Given the description of an element on the screen output the (x, y) to click on. 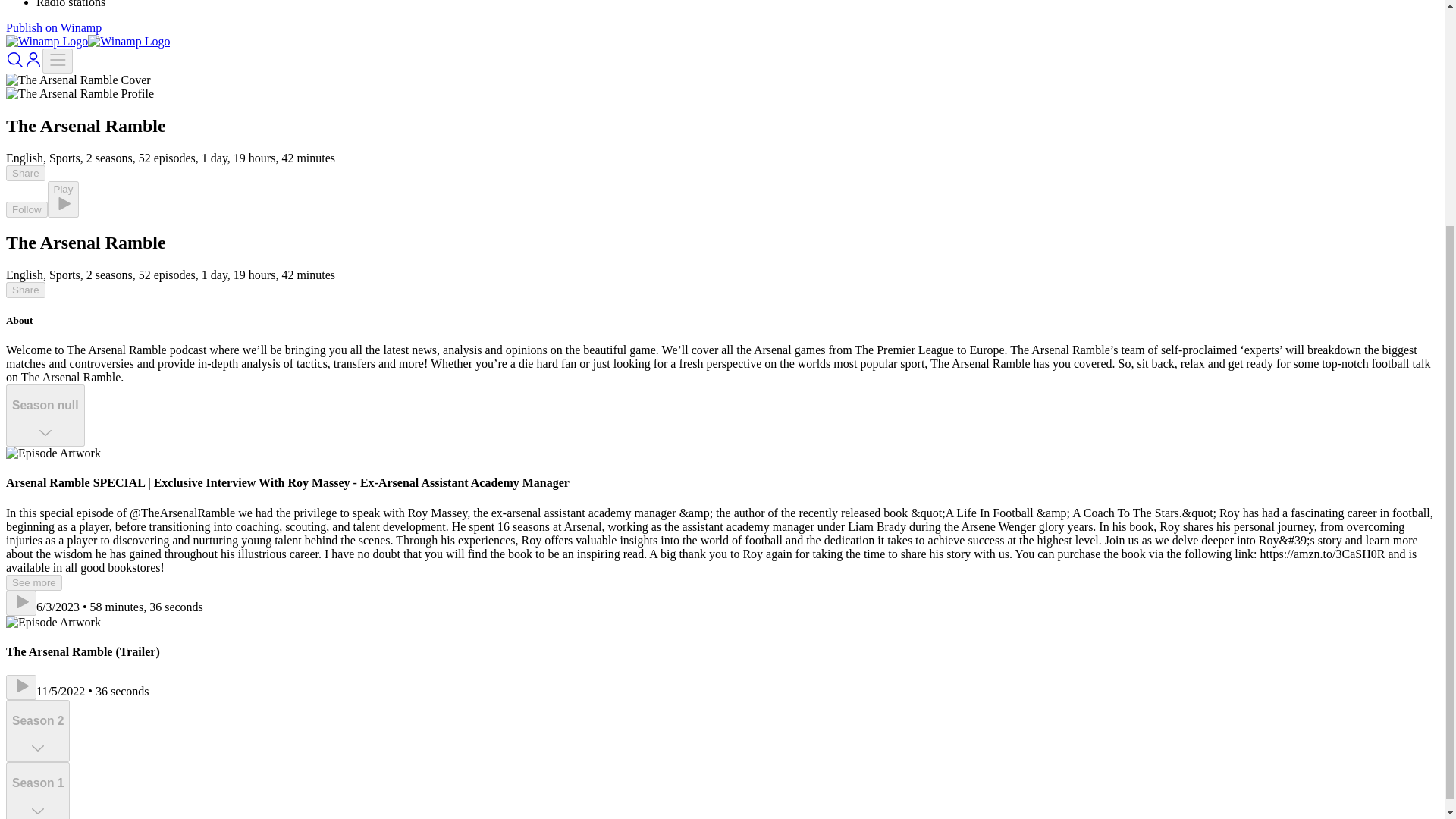
Season 2 (37, 731)
Play (64, 198)
See more (33, 582)
Share (25, 289)
Publish on Winamp (53, 27)
Season null (44, 415)
Follow (26, 209)
Share (25, 172)
